Given the description of an element on the screen output the (x, y) to click on. 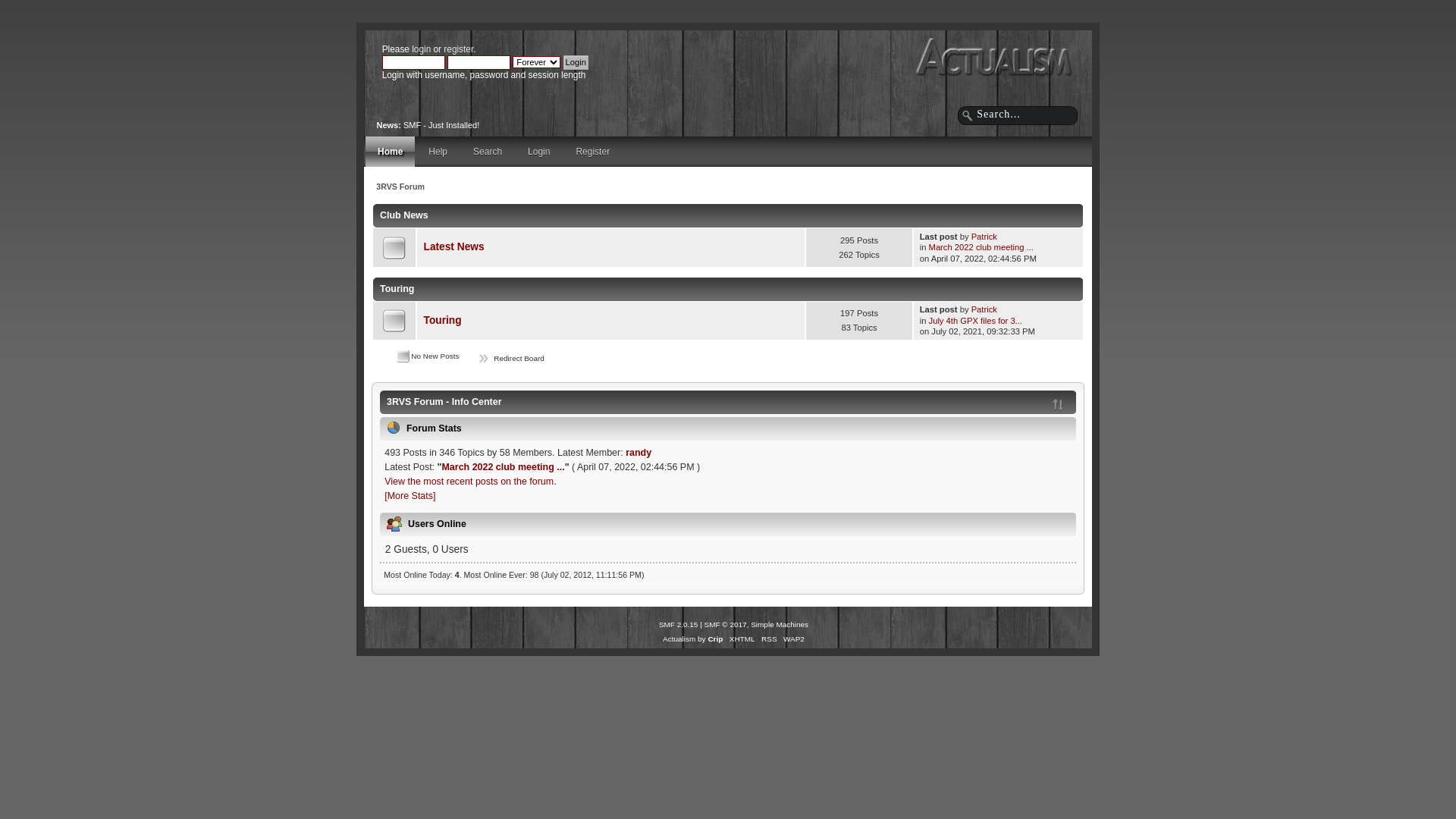
Search Element type: text (487, 151)
WAP2 Element type: text (793, 638)
XHTML Element type: text (742, 638)
Crip Element type: text (714, 638)
Latest News Element type: text (453, 246)
Simple Machines Element type: text (779, 624)
July 4th GPX files for 3... Element type: text (975, 320)
No New Posts Element type: hover (394, 320)
SMF 2.0.15 Element type: text (678, 624)
Patrick Element type: text (984, 236)
Login Element type: text (576, 62)
randy Element type: text (638, 452)
3RVS Forum Element type: text (400, 186)
Register Element type: text (592, 151)
RSS Element type: text (769, 638)
March 2022 club meeting ... Element type: text (502, 466)
Help Element type: text (437, 151)
register Element type: text (458, 48)
View the most recent posts on the forum. Element type: text (469, 481)
login Element type: text (420, 48)
Touring Element type: text (442, 320)
Home Element type: text (389, 151)
No New Posts Element type: hover (394, 247)
Patrick Element type: text (984, 308)
March 2022 club meeting ... Element type: text (980, 246)
Shrink or expand the header. Element type: hover (1058, 404)
Login Element type: text (538, 151)
[More Stats] Element type: text (409, 494)
